Given the description of an element on the screen output the (x, y) to click on. 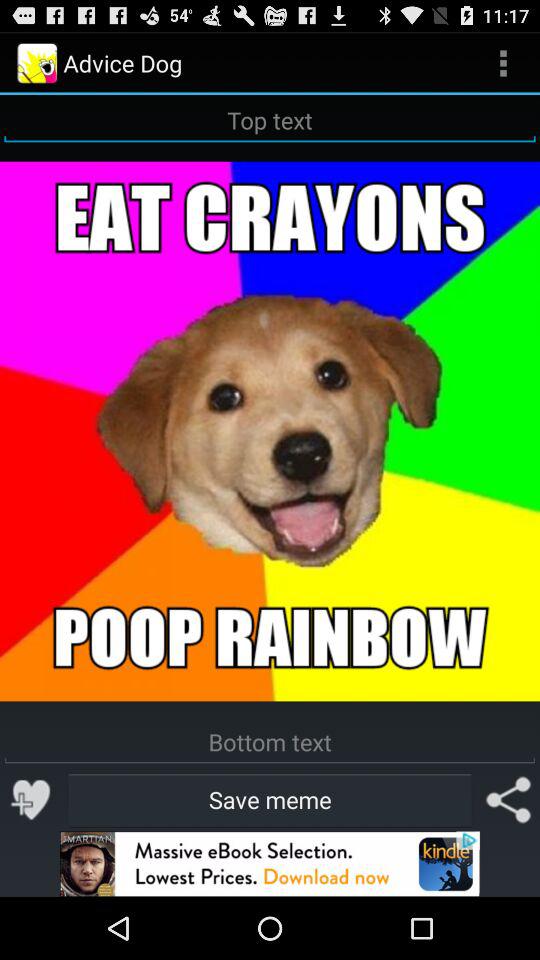
advertisement image (270, 864)
